Given the description of an element on the screen output the (x, y) to click on. 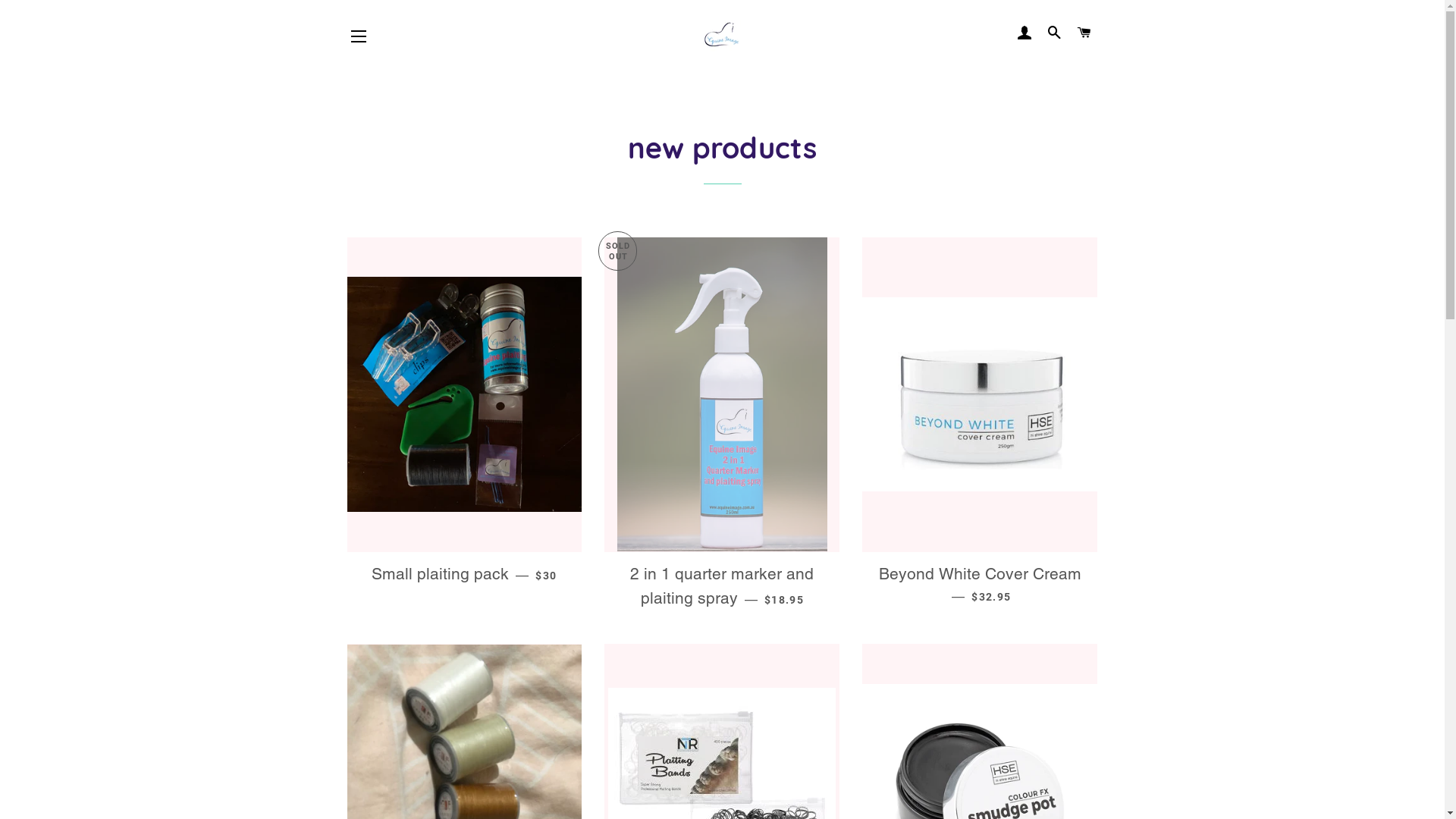
SEARCH Element type: text (1054, 33)
CART Element type: text (1084, 33)
LOG IN Element type: text (1024, 33)
SITE NAVIGATION Element type: text (358, 36)
